Given the description of an element on the screen output the (x, y) to click on. 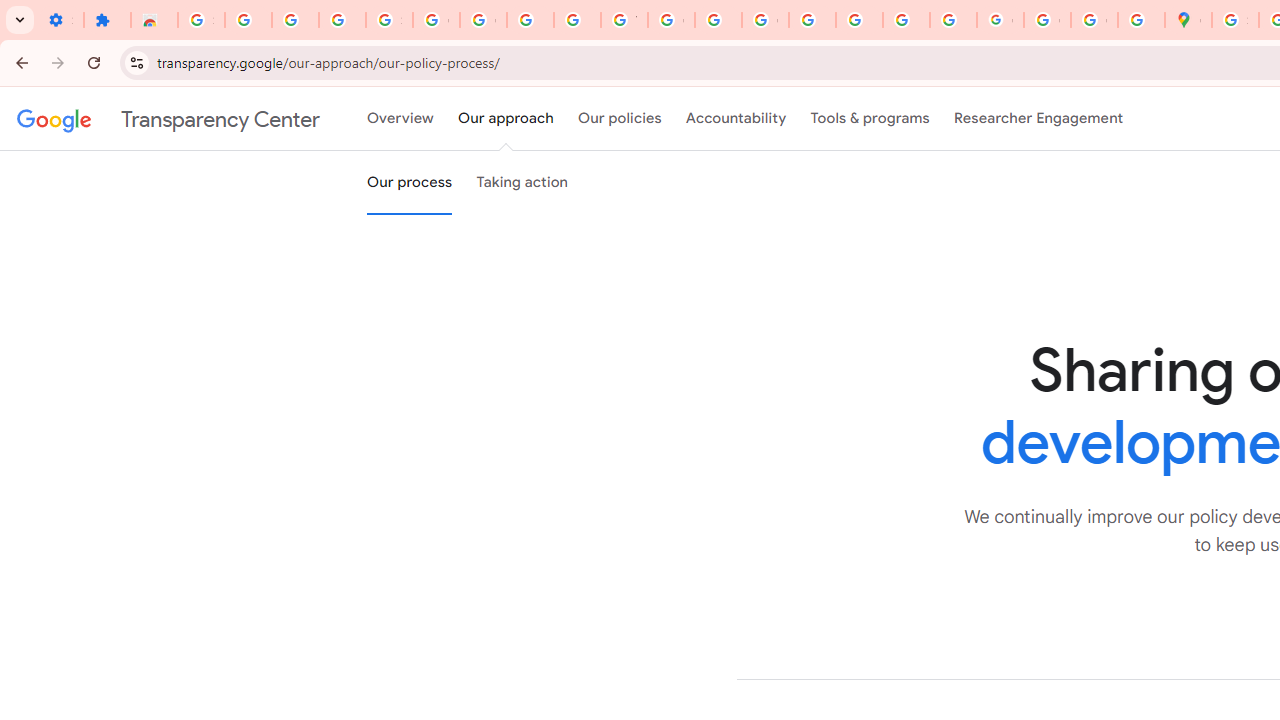
https://scholar.google.com/ (718, 20)
Google Account Help (436, 20)
Delete photos & videos - Computer - Google Photos Help (248, 20)
Sign in - Google Accounts (1235, 20)
Google Account Help (482, 20)
